Given the description of an element on the screen output the (x, y) to click on. 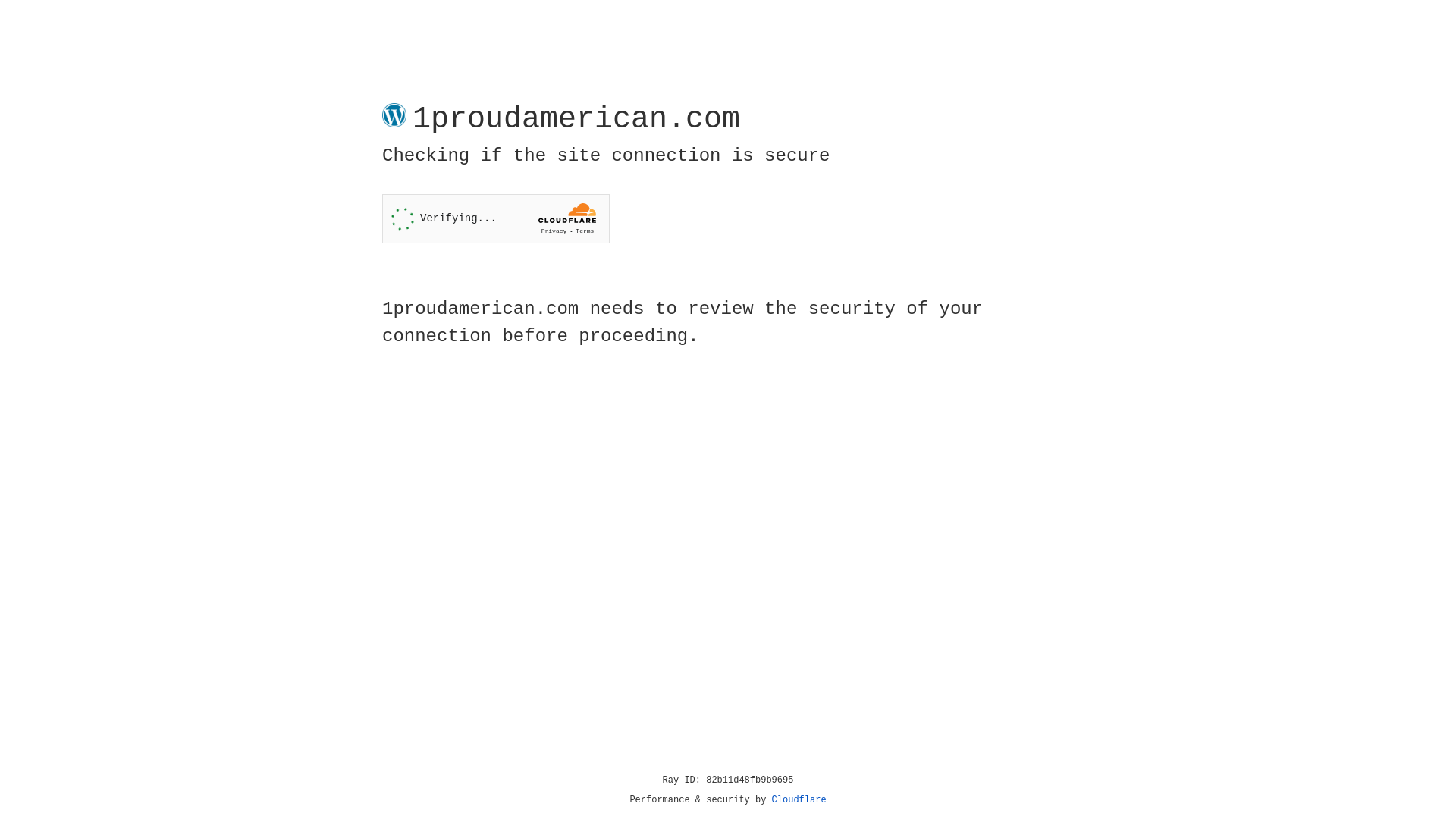
Widget containing a Cloudflare security challenge Element type: hover (495, 218)
Cloudflare Element type: text (798, 799)
